Given the description of an element on the screen output the (x, y) to click on. 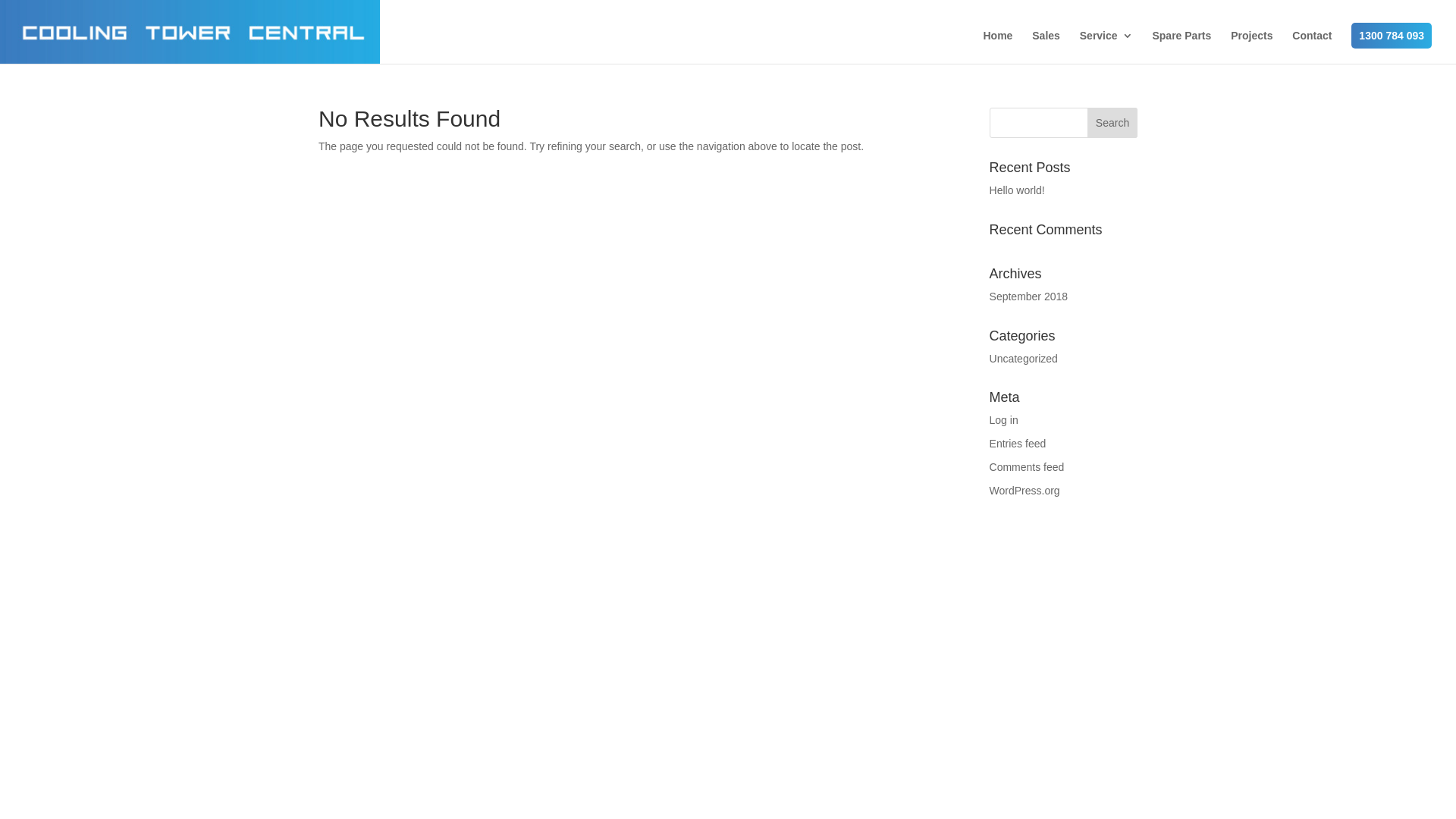
Comments feed Element type: text (1026, 467)
Uncategorized Element type: text (1023, 358)
Log in Element type: text (1003, 420)
1300 784 093 Element type: text (1391, 35)
Service Element type: text (1105, 46)
Home Element type: text (997, 46)
Contact Element type: text (1311, 46)
Hello world! Element type: text (1016, 190)
Projects Element type: text (1251, 46)
WordPress.org Element type: text (1024, 490)
Spare Parts Element type: text (1181, 46)
Entries feed Element type: text (1017, 443)
Sales Element type: text (1046, 46)
September 2018 Element type: text (1028, 296)
Search Element type: text (1112, 122)
